Given the description of an element on the screen output the (x, y) to click on. 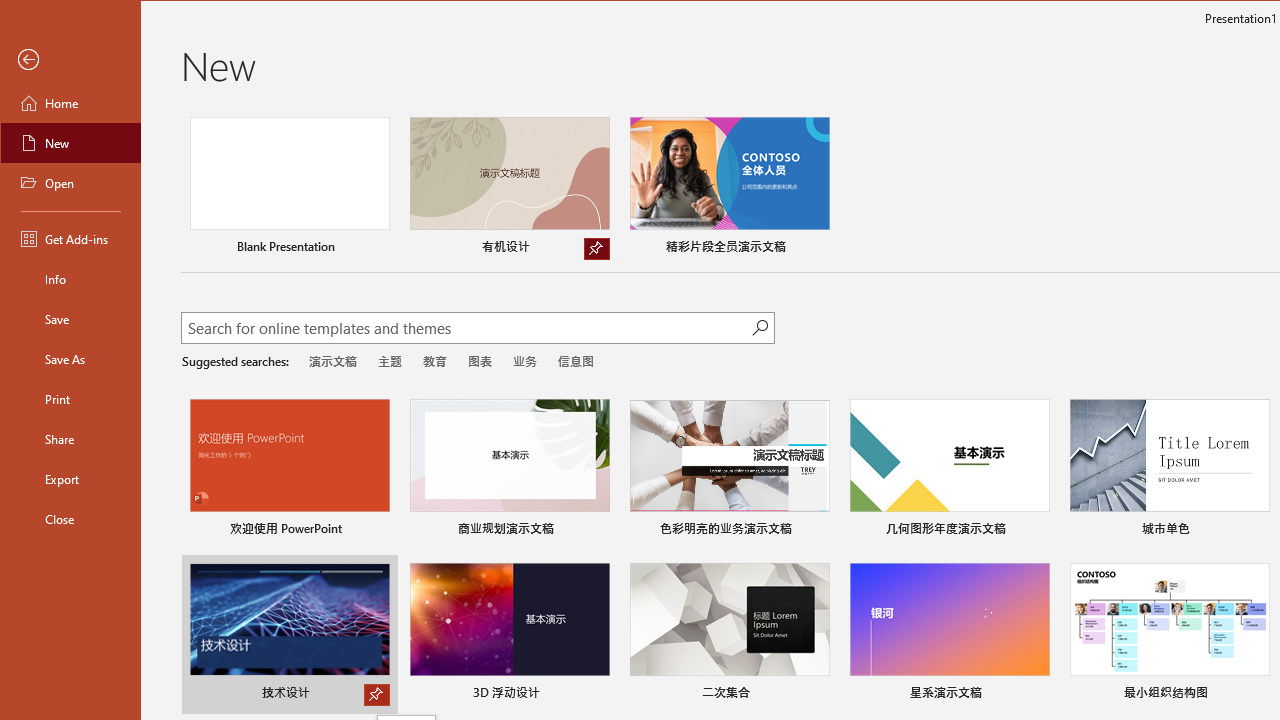
Search for online templates and themes (467, 330)
Export (70, 478)
Unpin from list (596, 248)
Pin to list (1256, 695)
